Given the description of an element on the screen output the (x, y) to click on. 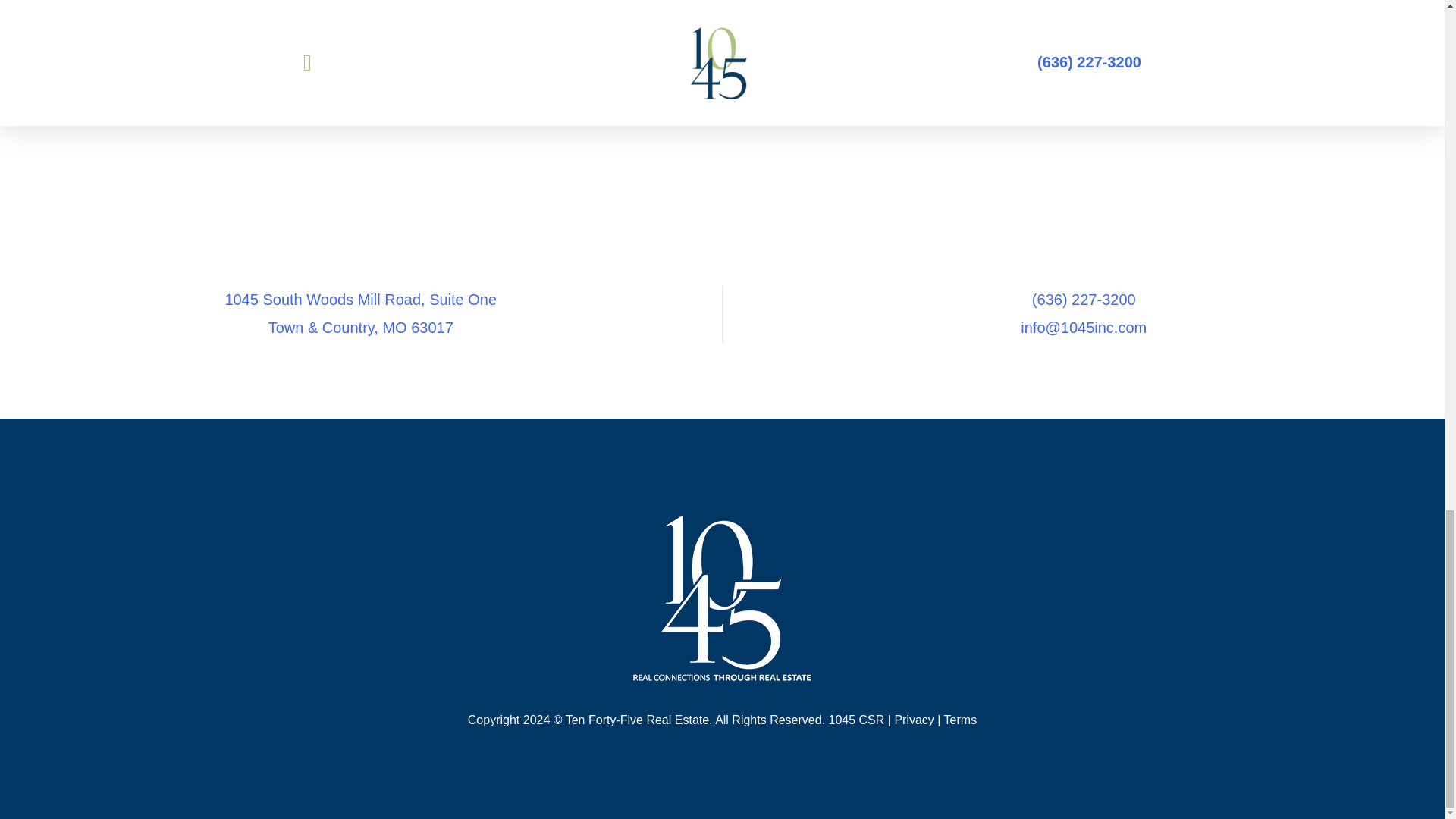
1045 CSR (856, 719)
Privacy (913, 719)
Terms (959, 719)
